Given the description of an element on the screen output the (x, y) to click on. 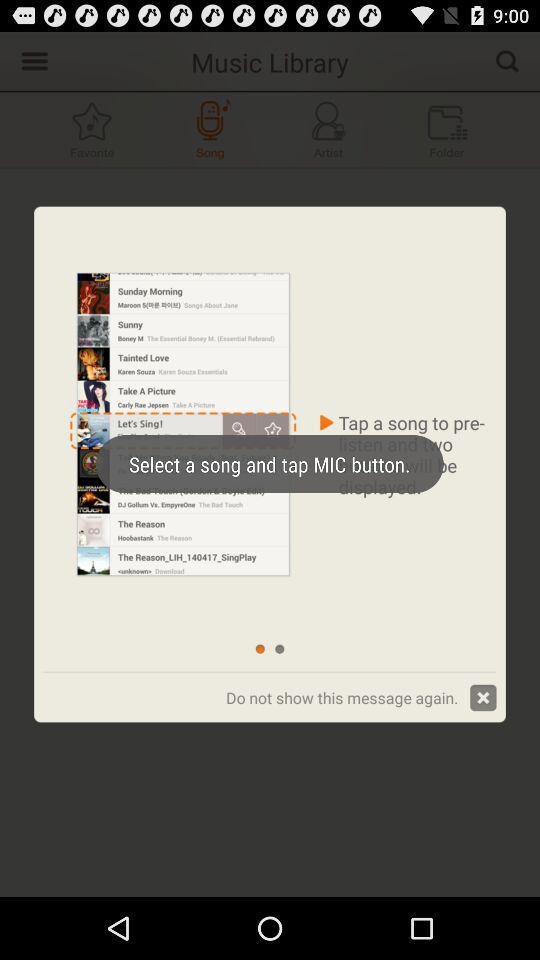
search function (507, 60)
